Given the description of an element on the screen output the (x, y) to click on. 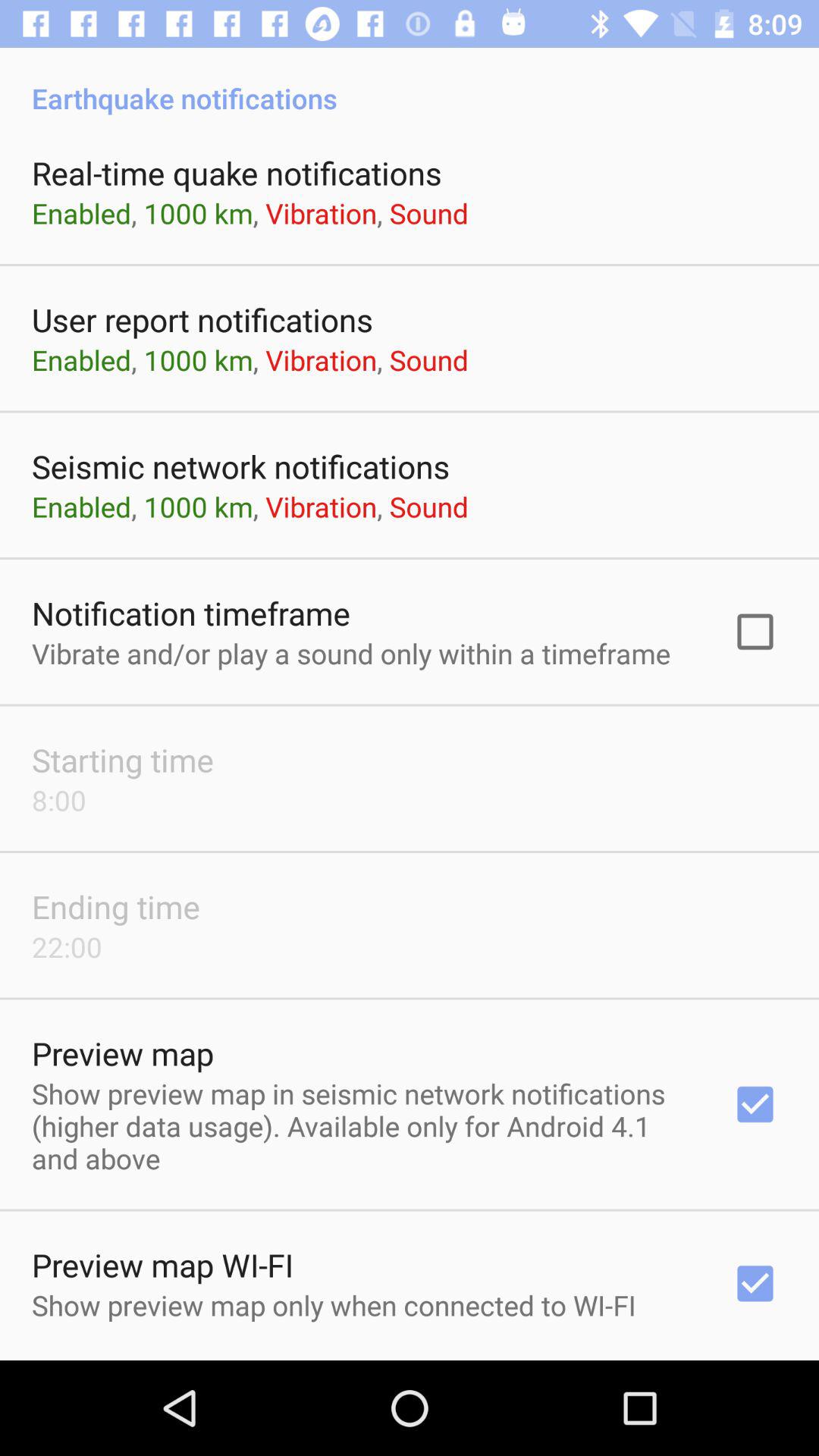
choose the real time quake item (236, 172)
